Given the description of an element on the screen output the (x, y) to click on. 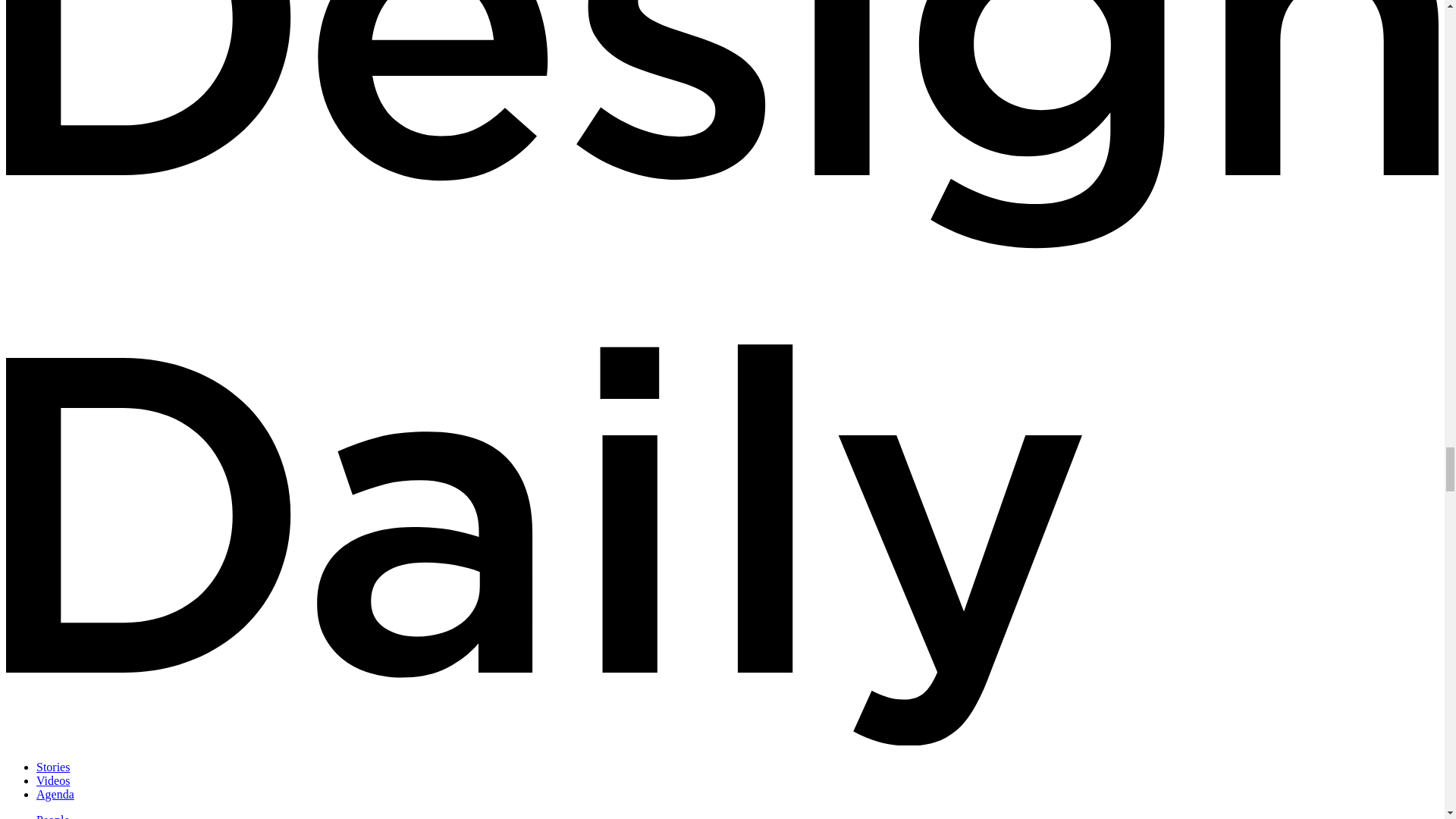
People (52, 816)
Stories (52, 766)
Agenda (55, 793)
Videos (52, 780)
